Given the description of an element on the screen output the (x, y) to click on. 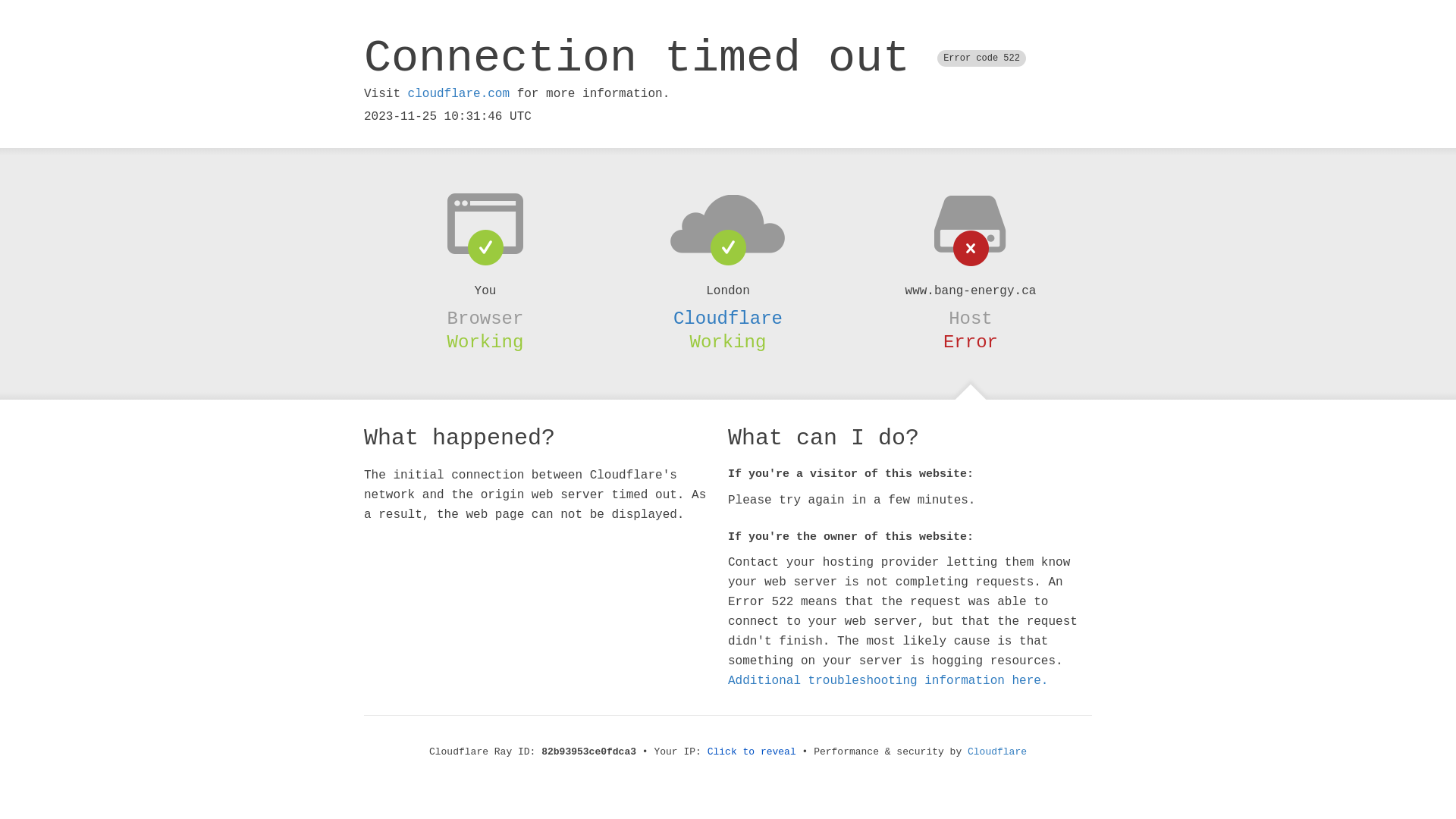
Cloudflare Element type: text (727, 318)
Additional troubleshooting information here. Element type: text (888, 680)
cloudflare.com Element type: text (458, 93)
Click to reveal Element type: text (751, 751)
Cloudflare Element type: text (996, 751)
